Given the description of an element on the screen output the (x, y) to click on. 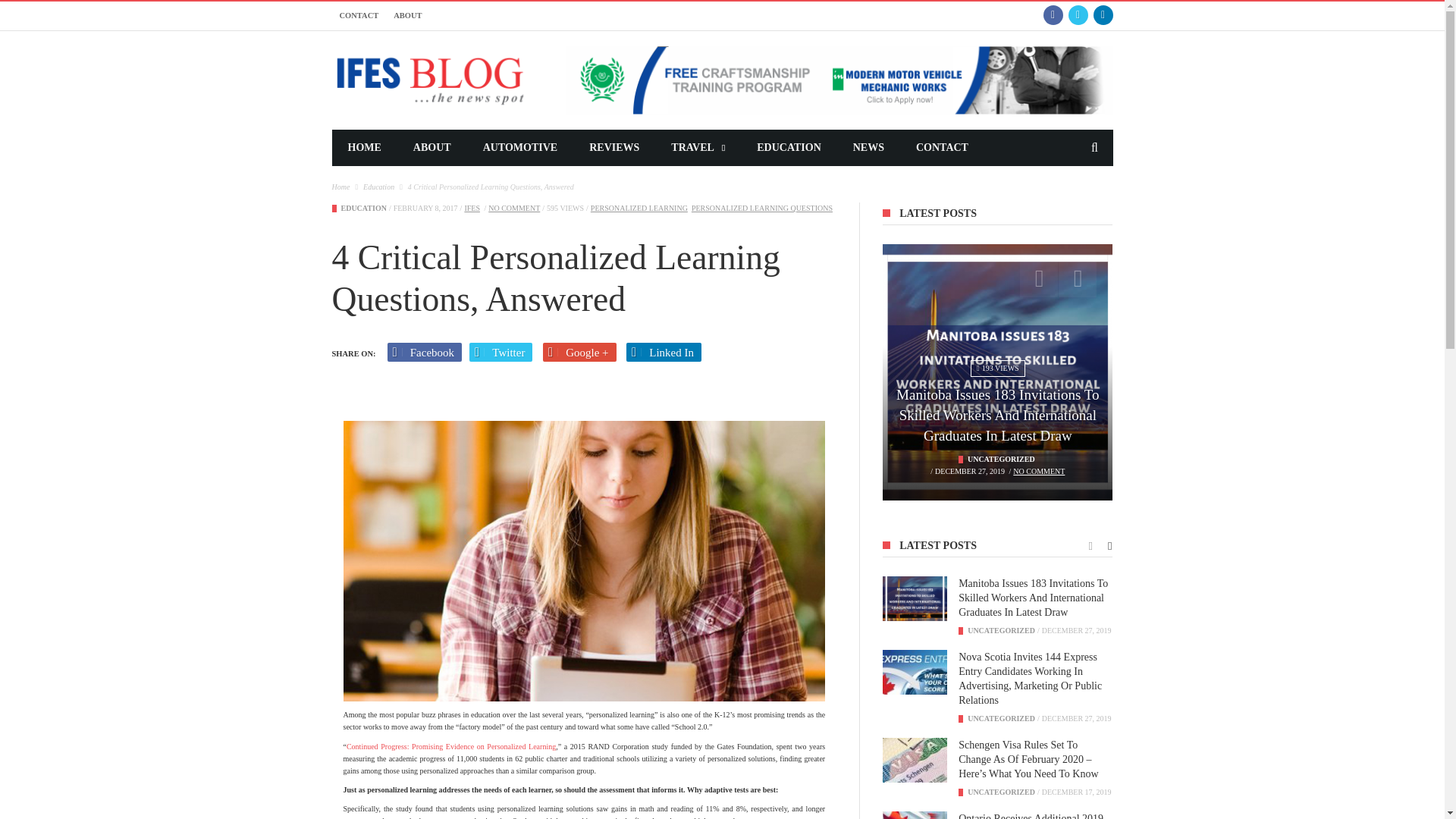
Home (340, 186)
NEWS (868, 147)
EDUCATION (789, 147)
Personalized Learning (639, 207)
CONTACT (359, 15)
ABOUT (407, 15)
AUTOMOTIVE (520, 147)
Home (340, 186)
REVIEWS (614, 147)
Personalized learning Questions (761, 207)
HOME (364, 147)
ABOUT (432, 147)
Education (378, 186)
Education (363, 207)
